Given the description of an element on the screen output the (x, y) to click on. 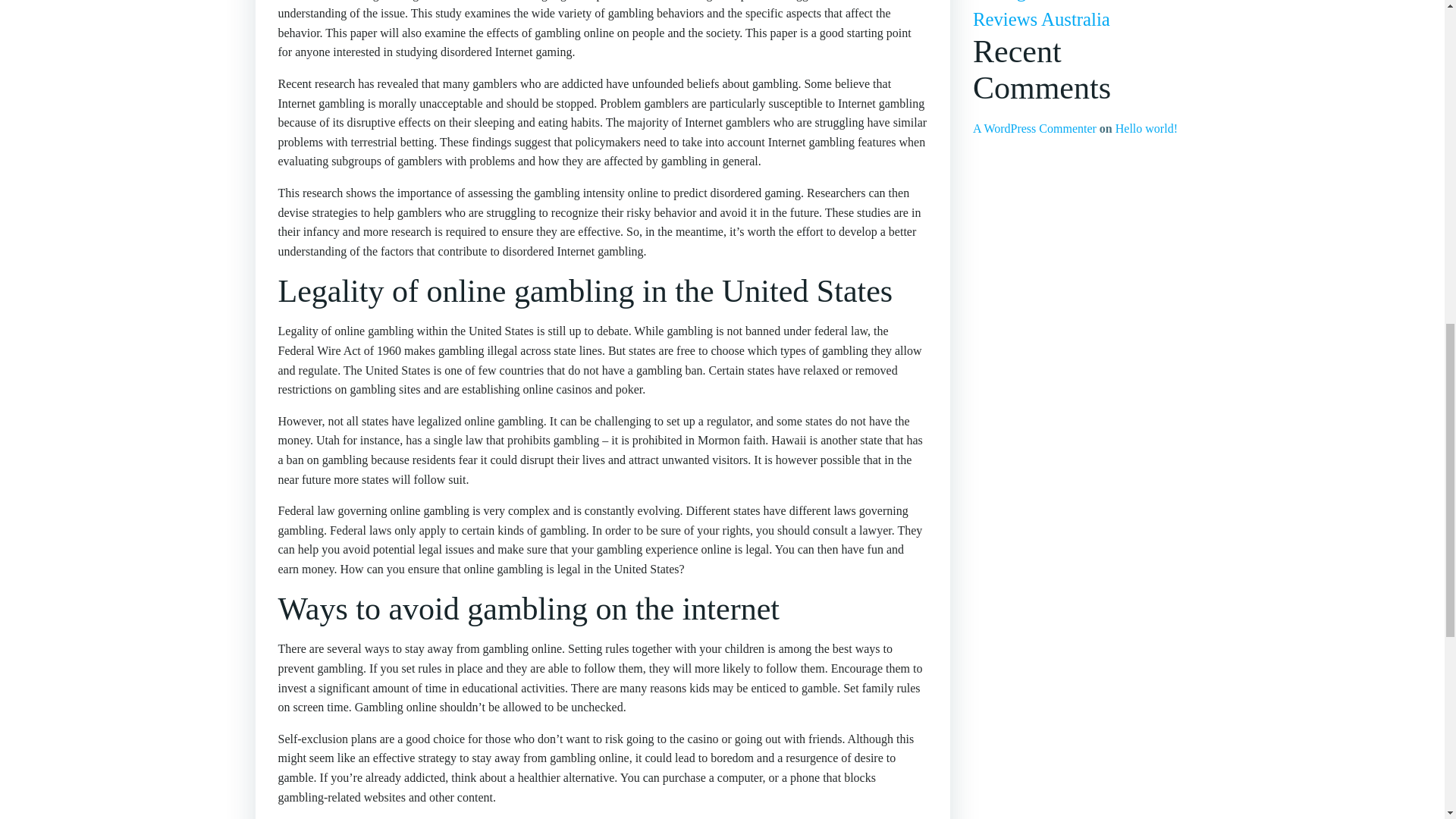
Hello world! (1146, 128)
5Gringos Casino Site Reviews Australia (1053, 14)
A WordPress Commenter (1034, 128)
